Given the description of an element on the screen output the (x, y) to click on. 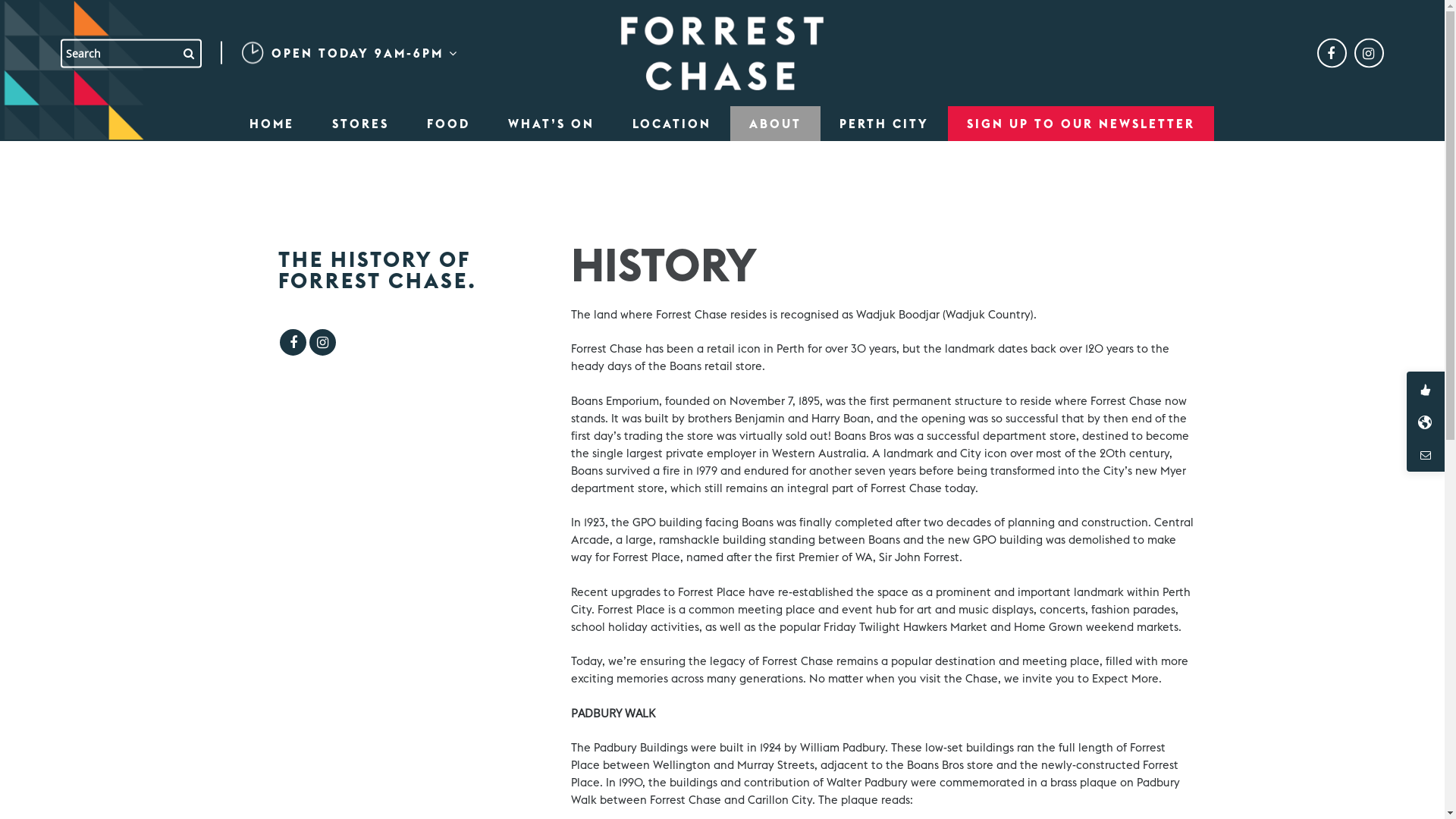
LOCATION Element type: text (671, 123)
FOOD Element type: text (448, 123)
PERTH CITY Element type: text (883, 123)
OPEN TODAY 9AM-6PM Element type: text (360, 52)
SIGN UP TO OUR NEWSLETTER Element type: text (1080, 123)
STORES Element type: text (360, 123)
ABOUT Element type: text (775, 123)
HOME Element type: text (271, 123)
